Given the description of an element on the screen output the (x, y) to click on. 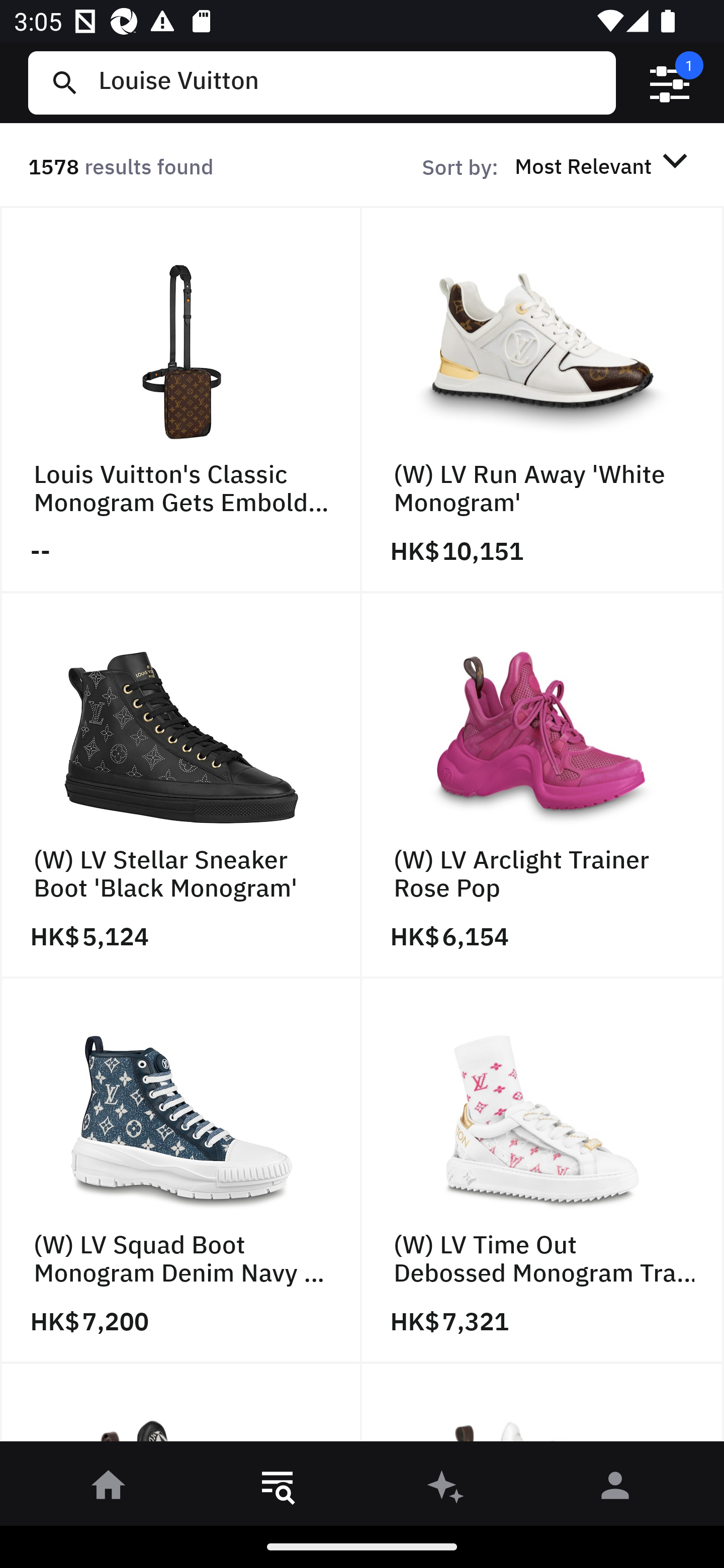
Louise Vuitton (349, 82)
 (669, 82)
Most Relevant  (604, 165)
(W) LV Run Away 'White Monogram' HK$ 10,151 (543, 399)
(W) LV Arclight Trainer Rose Pop HK$ 6,154 (543, 785)
󰋜 (108, 1488)
󱎸 (277, 1488)
󰫢 (446, 1488)
󰀄 (615, 1488)
